Given the description of an element on the screen output the (x, y) to click on. 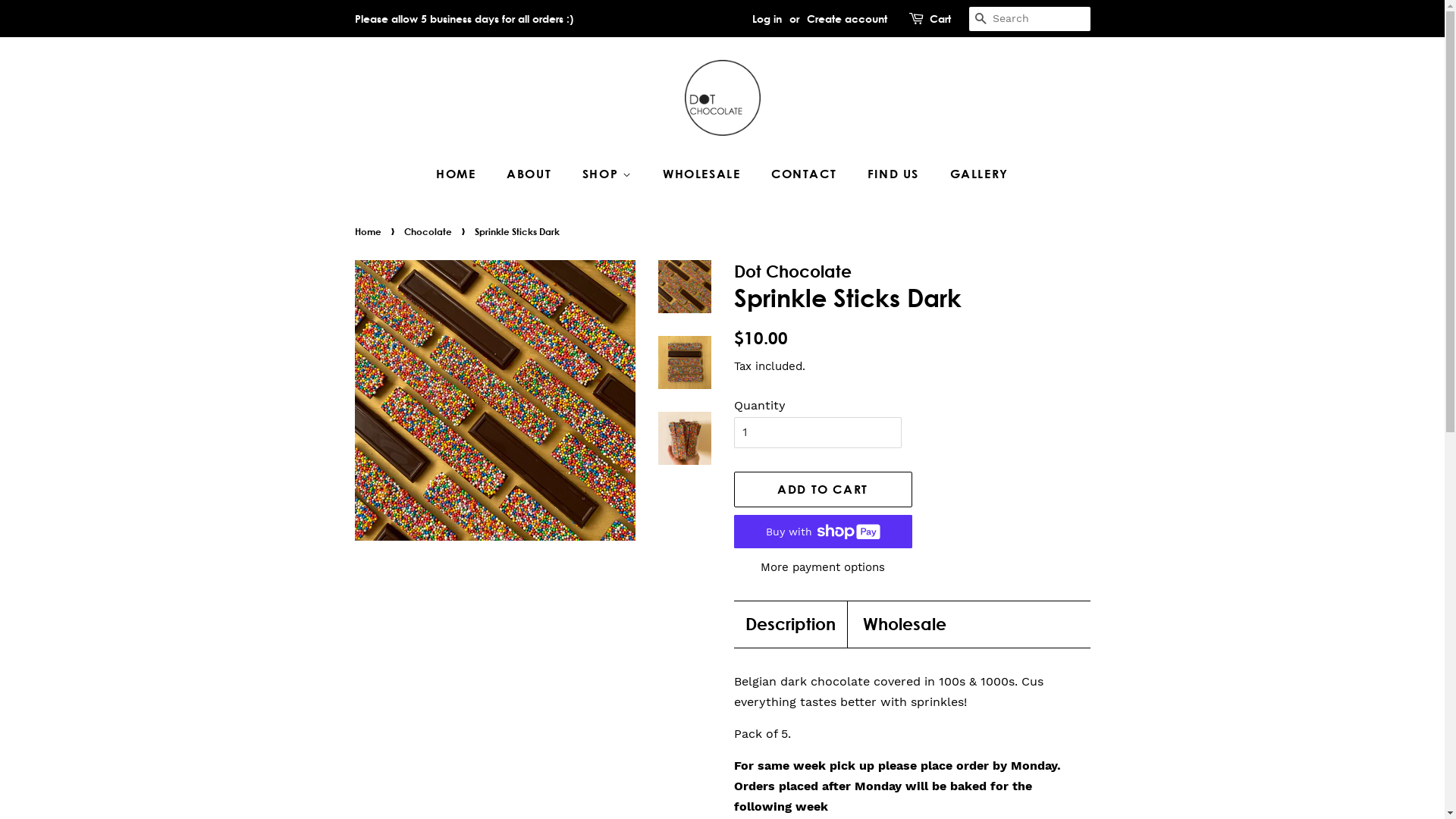
ABOUT Element type: text (530, 173)
GALLERY Element type: text (973, 173)
WHOLESALE Element type: text (703, 173)
Log in Element type: text (766, 18)
Description Element type: text (789, 624)
Chocolate Element type: text (429, 231)
SEARCH Element type: text (981, 18)
Home Element type: text (369, 231)
FIND US Element type: text (895, 173)
Cart Element type: text (939, 18)
Wholesale Element type: text (904, 624)
ADD TO CART Element type: text (823, 489)
More payment options Element type: text (823, 566)
SHOP Element type: text (609, 173)
CONTACT Element type: text (805, 173)
HOME Element type: text (463, 173)
Create account Element type: text (846, 18)
